Given the description of an element on the screen output the (x, y) to click on. 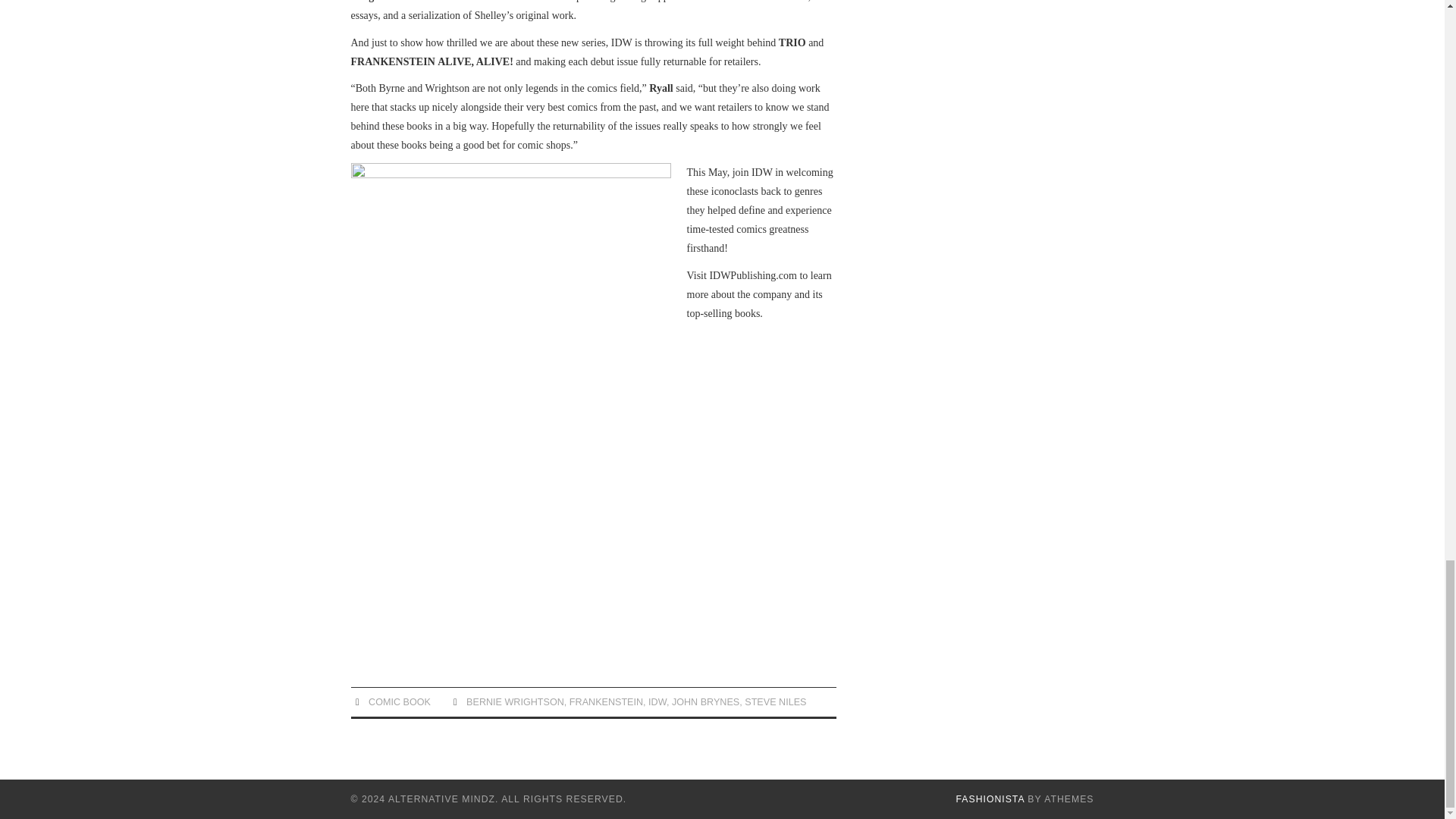
BERNIE WRIGHTSON (514, 701)
JOHN BRYNES (705, 701)
COMIC BOOK (399, 701)
STEVE NILES (775, 701)
FRANKENSTEIN (606, 701)
IDW (656, 701)
